Given the description of an element on the screen output the (x, y) to click on. 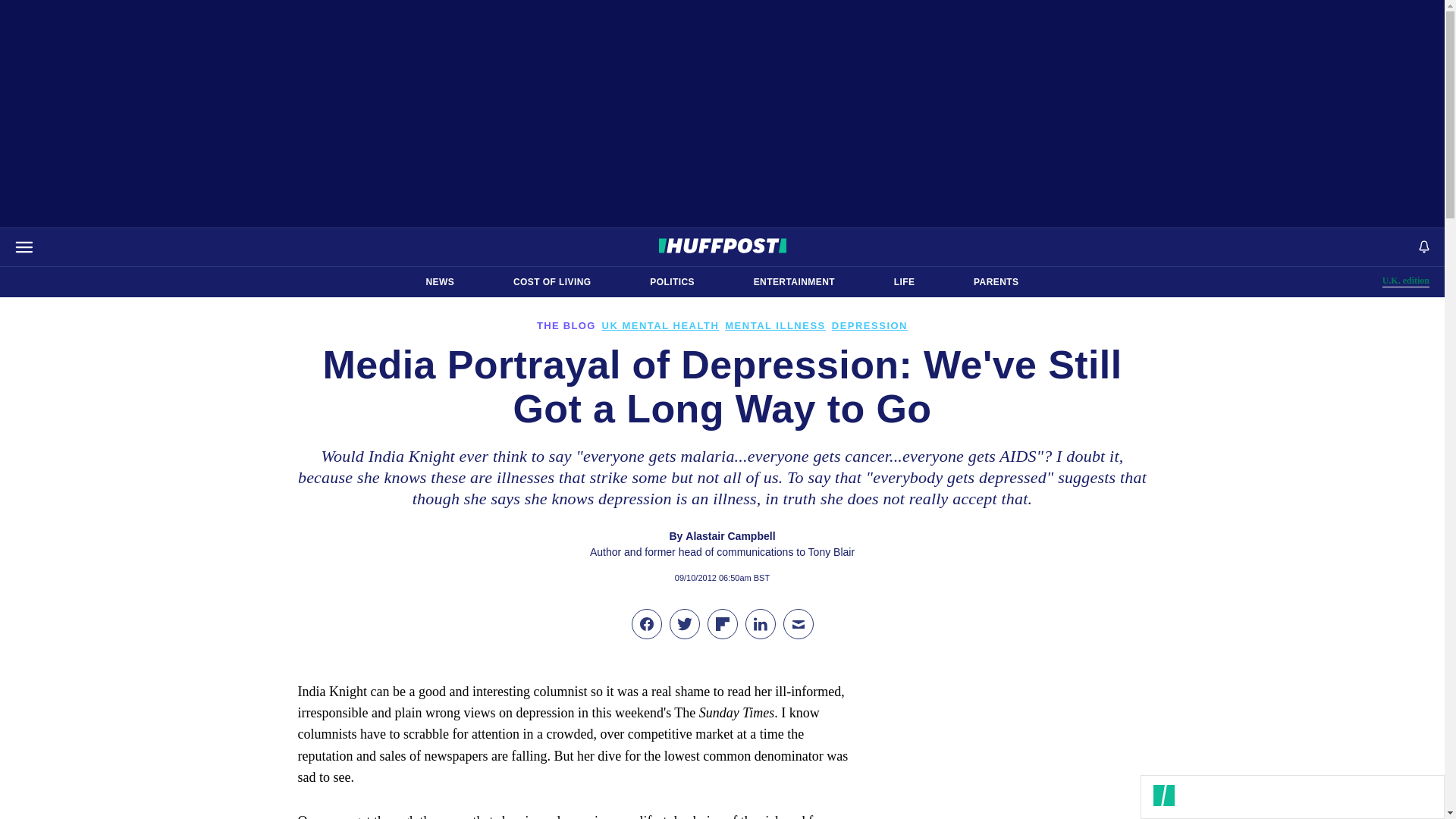
POLITICS (671, 281)
NEWS (1405, 281)
ENTERTAINMENT (440, 281)
LIFE (794, 281)
COST OF LIVING (904, 281)
PARENTS (552, 281)
